Given the description of an element on the screen output the (x, y) to click on. 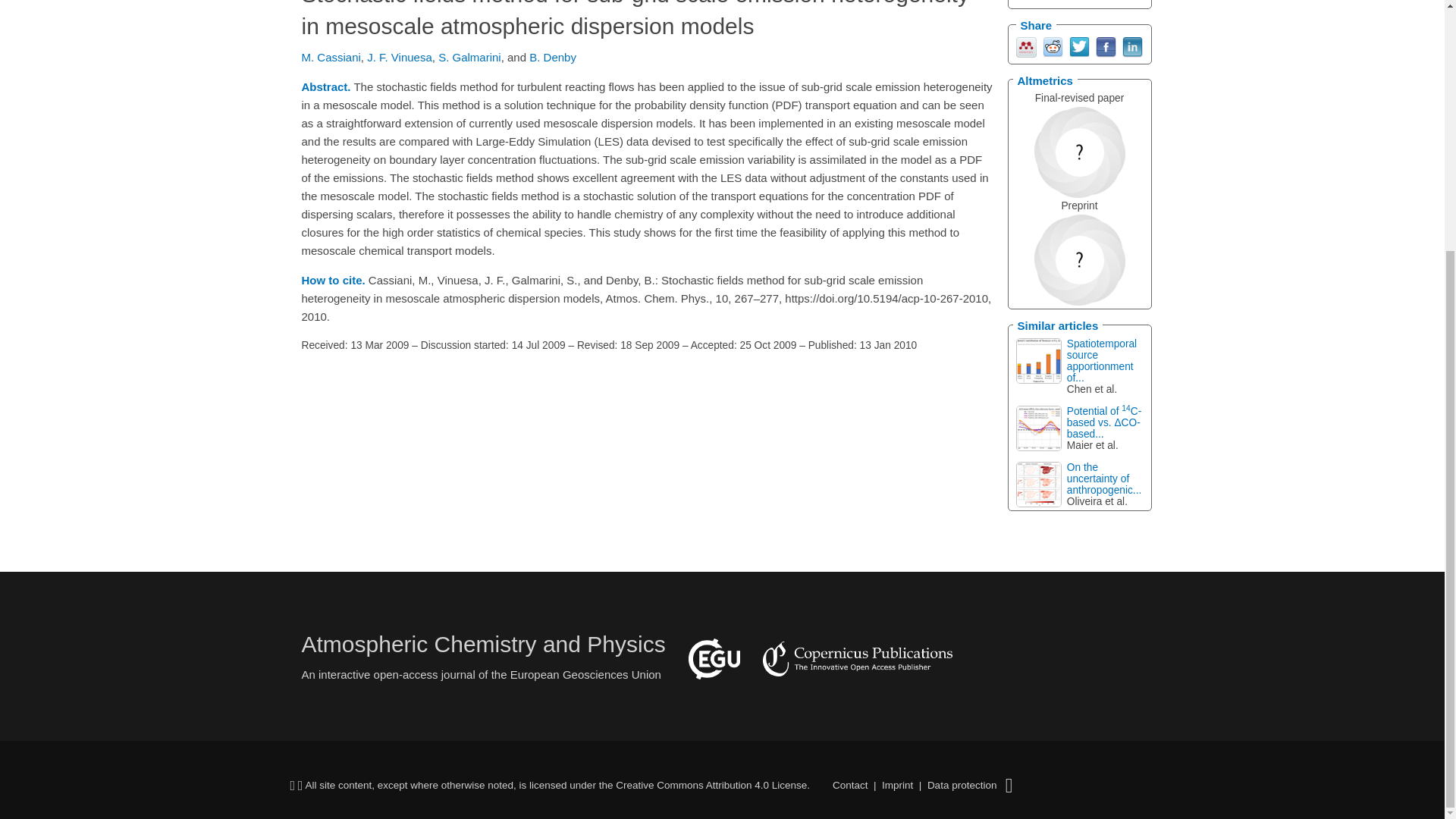
Reddit (1052, 45)
Twitter (1078, 45)
Facebook (1104, 45)
Mendeley (1026, 45)
